Given the description of an element on the screen output the (x, y) to click on. 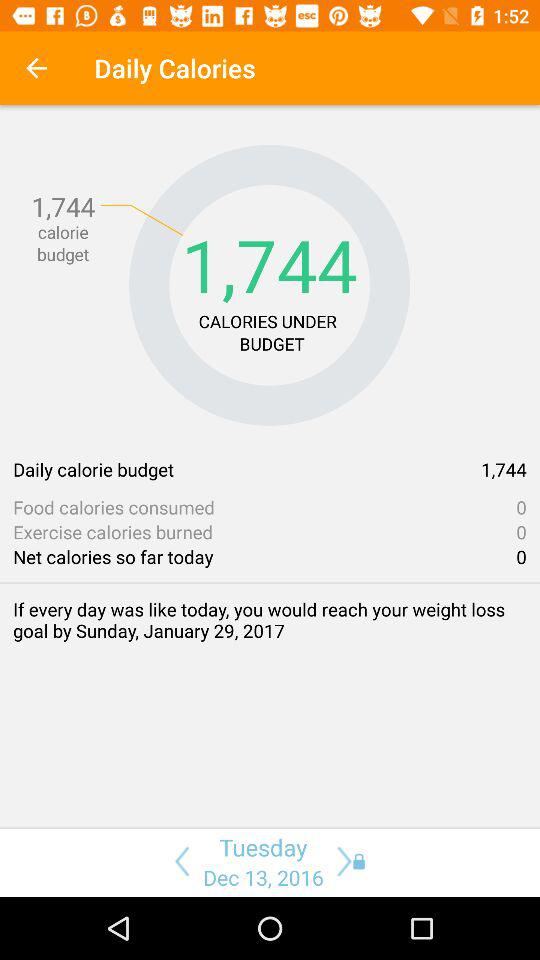
go back to previous date (178, 861)
